Given the description of an element on the screen output the (x, y) to click on. 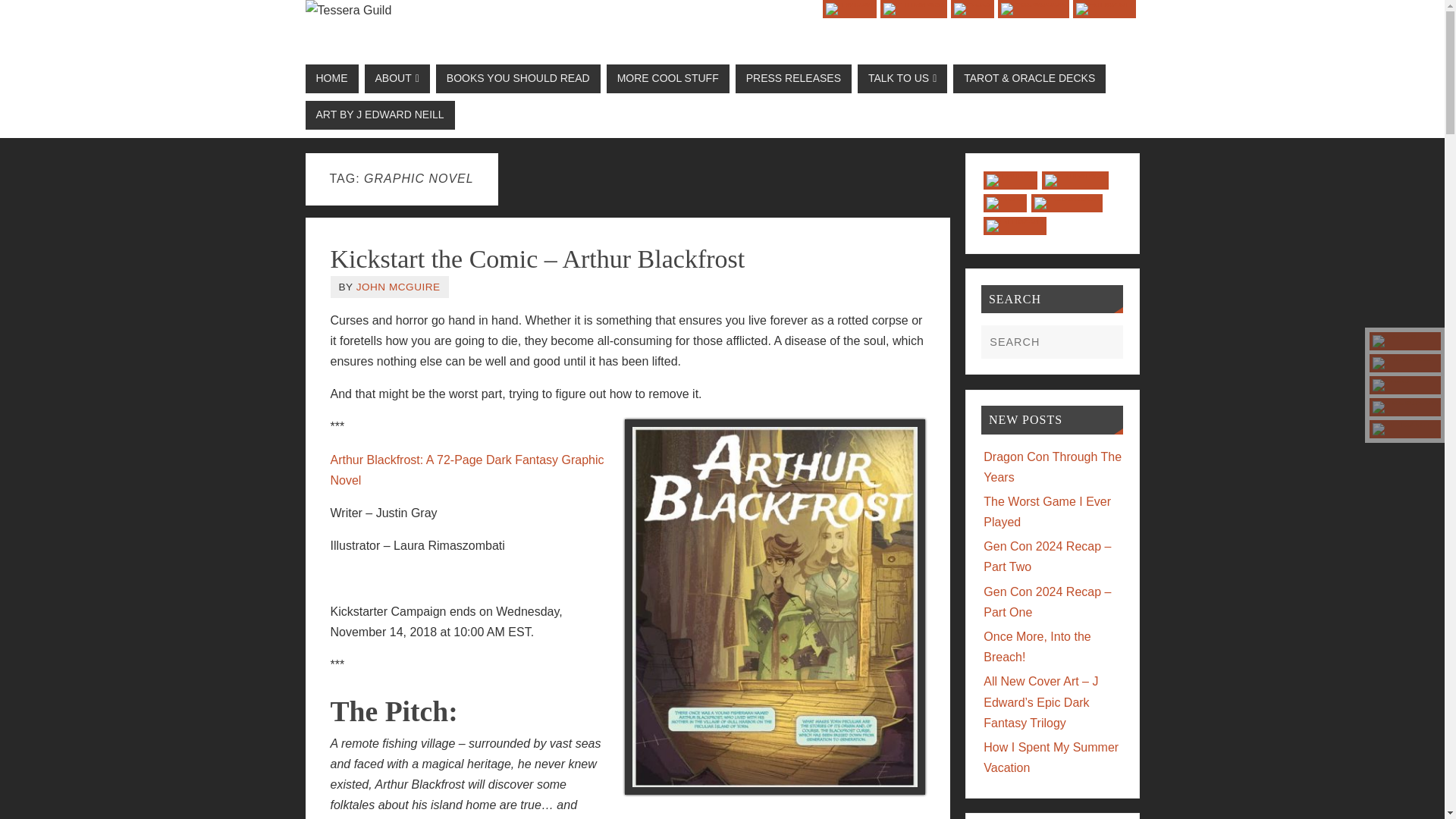
Twitter (1405, 341)
Tessera Guild (721, 10)
Amazon (1405, 429)
ABOUT (396, 78)
RSS (972, 9)
Pinterest (1405, 362)
MORE COOL STUFF (668, 78)
BOOKS YOU SHOULD READ (517, 78)
Amazon (1104, 9)
View all posts by John McGuire (398, 286)
